Given the description of an element on the screen output the (x, y) to click on. 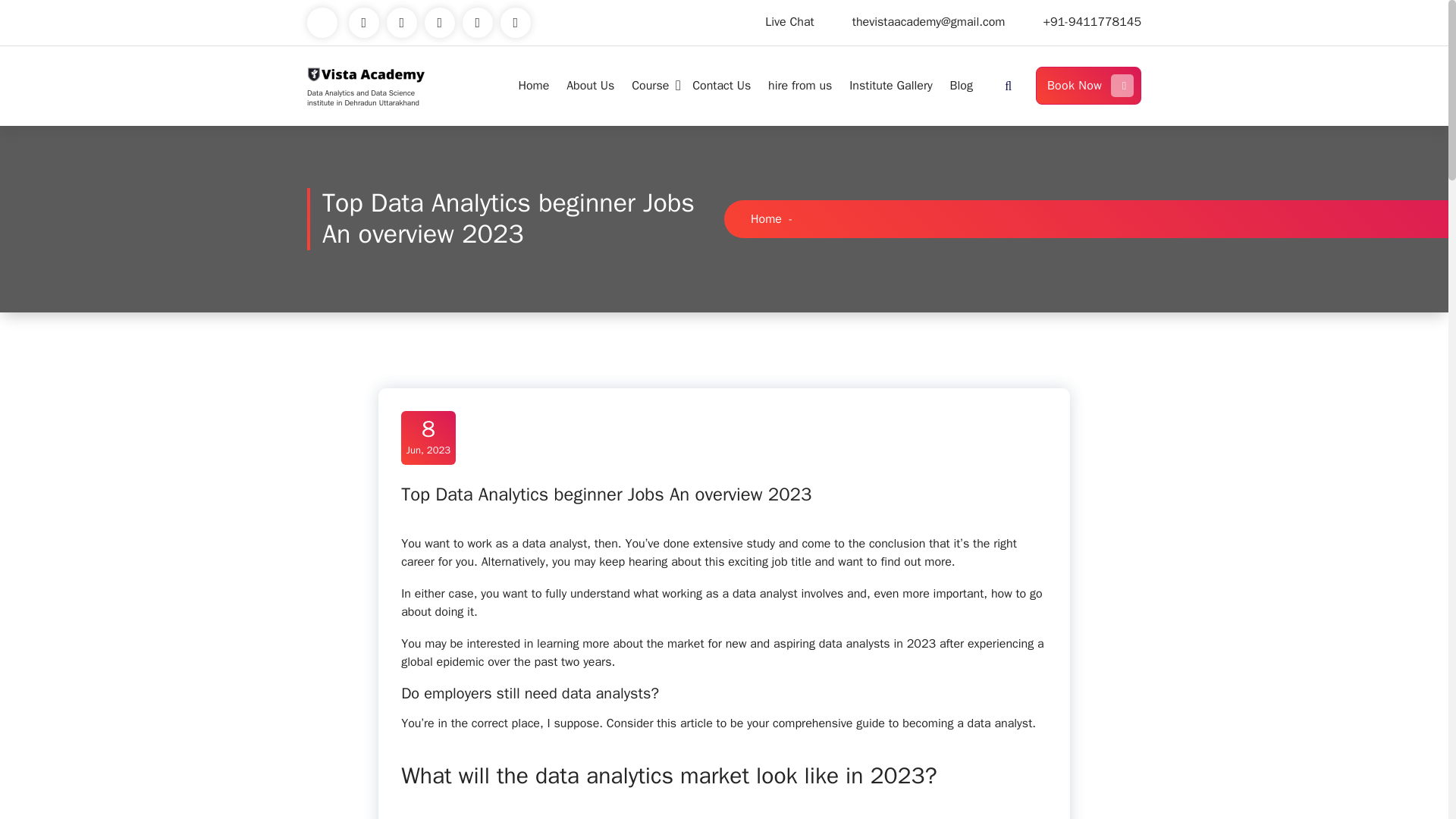
Home (766, 218)
hire from us (799, 85)
hire from us (799, 85)
Course (653, 85)
Contact Us (721, 85)
About Us (590, 85)
Institute Gallery (891, 85)
About Us (590, 85)
Contact Us (721, 85)
Home (532, 85)
Top Data Analytics beginner Jobs An overview 2023 (605, 494)
Blog (960, 85)
Blog (427, 436)
Home (960, 85)
